Given the description of an element on the screen output the (x, y) to click on. 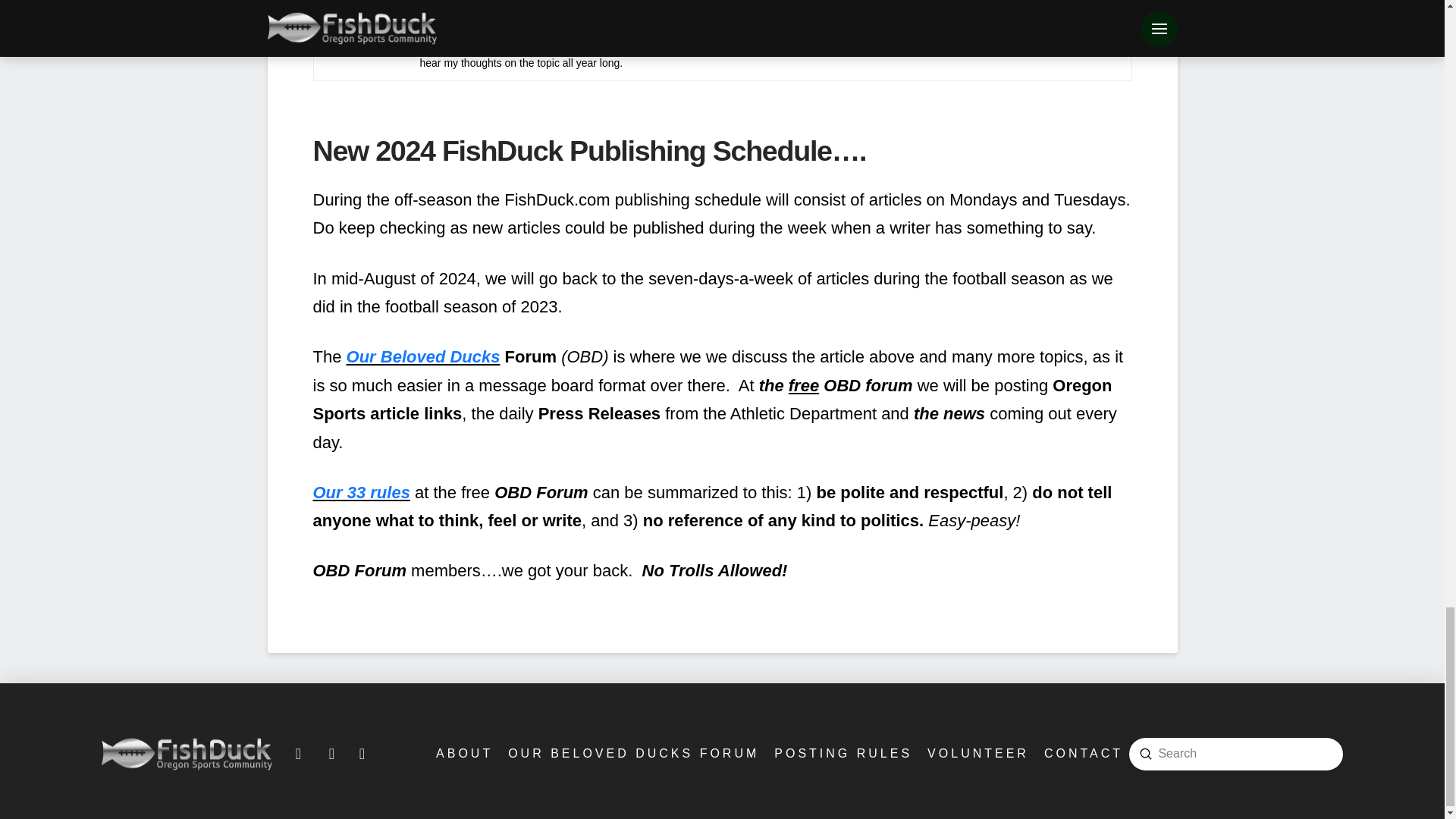
Our Beloved Ducks (423, 356)
CONTACT (1082, 753)
Our 33 rules (361, 492)
Mitchel Simantel (469, 0)
ABOUT (462, 753)
Commenting Rules (841, 753)
About (462, 753)
Volunteer (976, 753)
Submit (1145, 753)
OUR BELOVED DUCKS FORUM (632, 753)
POSTING RULES (841, 753)
VOLUNTEER (976, 753)
